Given the description of an element on the screen output the (x, y) to click on. 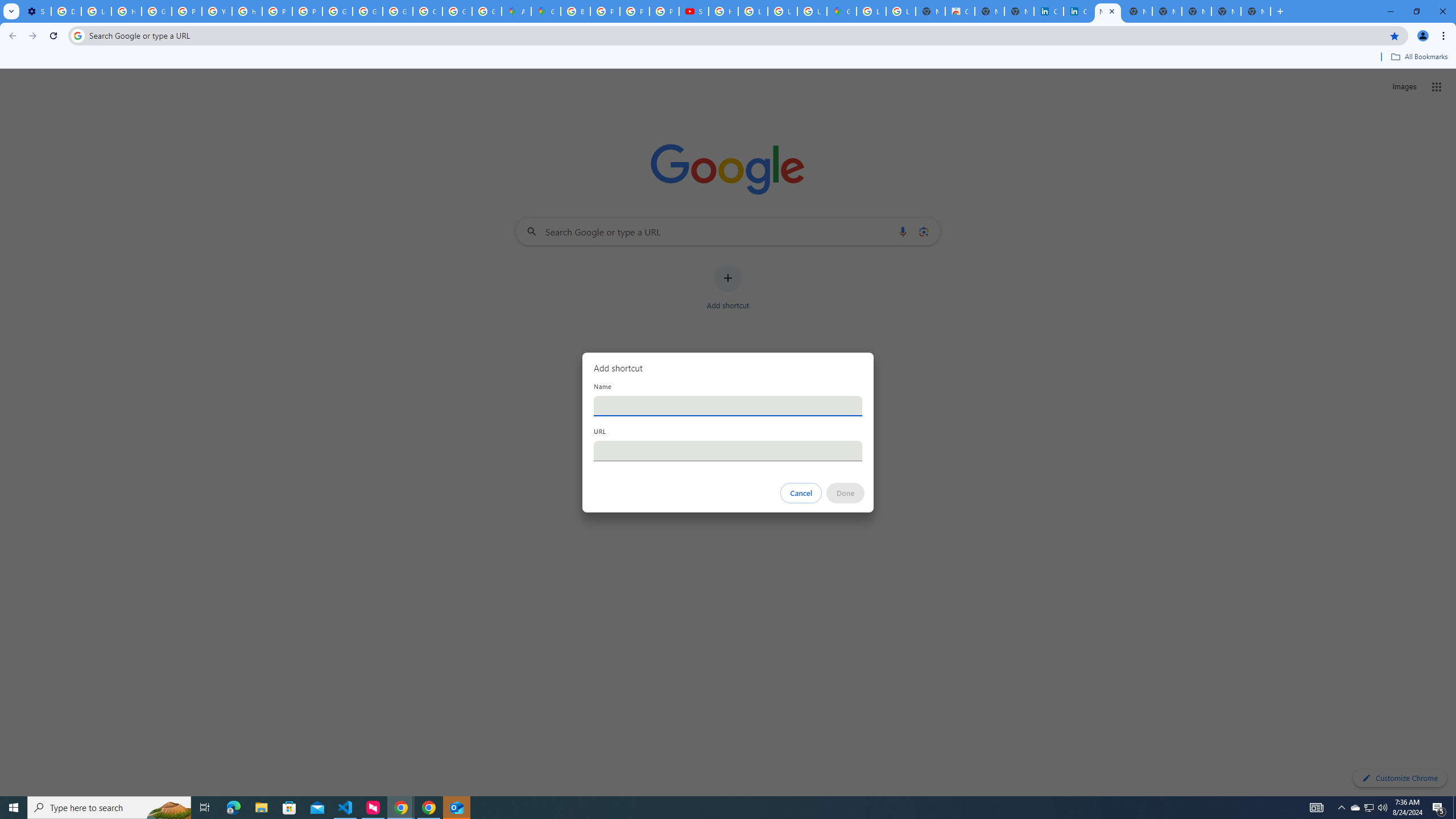
New Tab (1196, 11)
Bookmarks (728, 58)
Learn how to find your photos - Google Photos Help (95, 11)
Privacy Help Center - Policies Help (604, 11)
Chrome Web Store (959, 11)
